Given the description of an element on the screen output the (x, y) to click on. 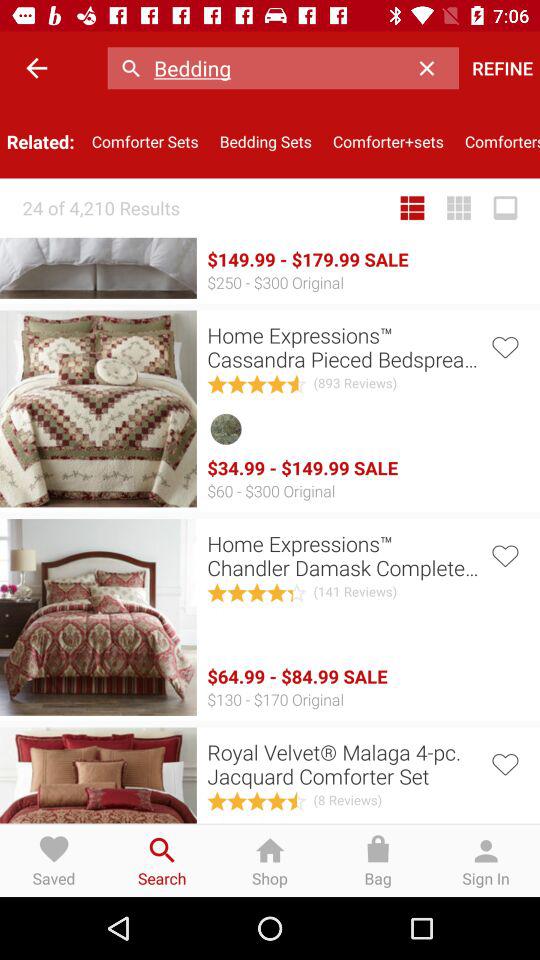
favorite item (504, 762)
